Given the description of an element on the screen output the (x, y) to click on. 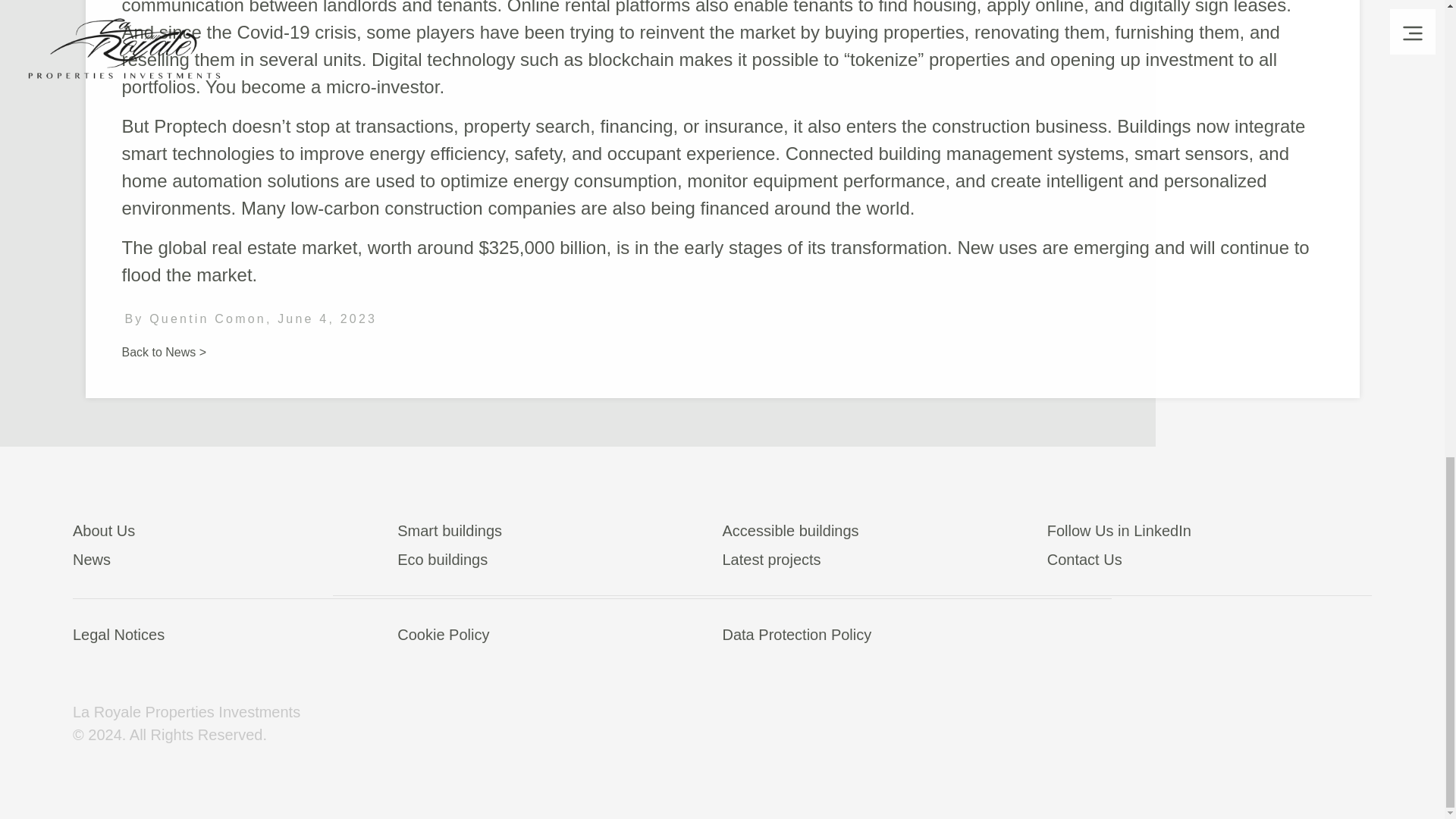
Data Protection Policy (884, 637)
Eco buildings (559, 562)
Accessible buildings (884, 533)
Smart buildings (559, 533)
Cookie Policy (559, 637)
Contact Us (1208, 562)
About Us (234, 533)
Legal Notices (234, 637)
News (234, 562)
Follow Us in LinkedIn (1208, 533)
Latest projects (884, 562)
